Given the description of an element on the screen output the (x, y) to click on. 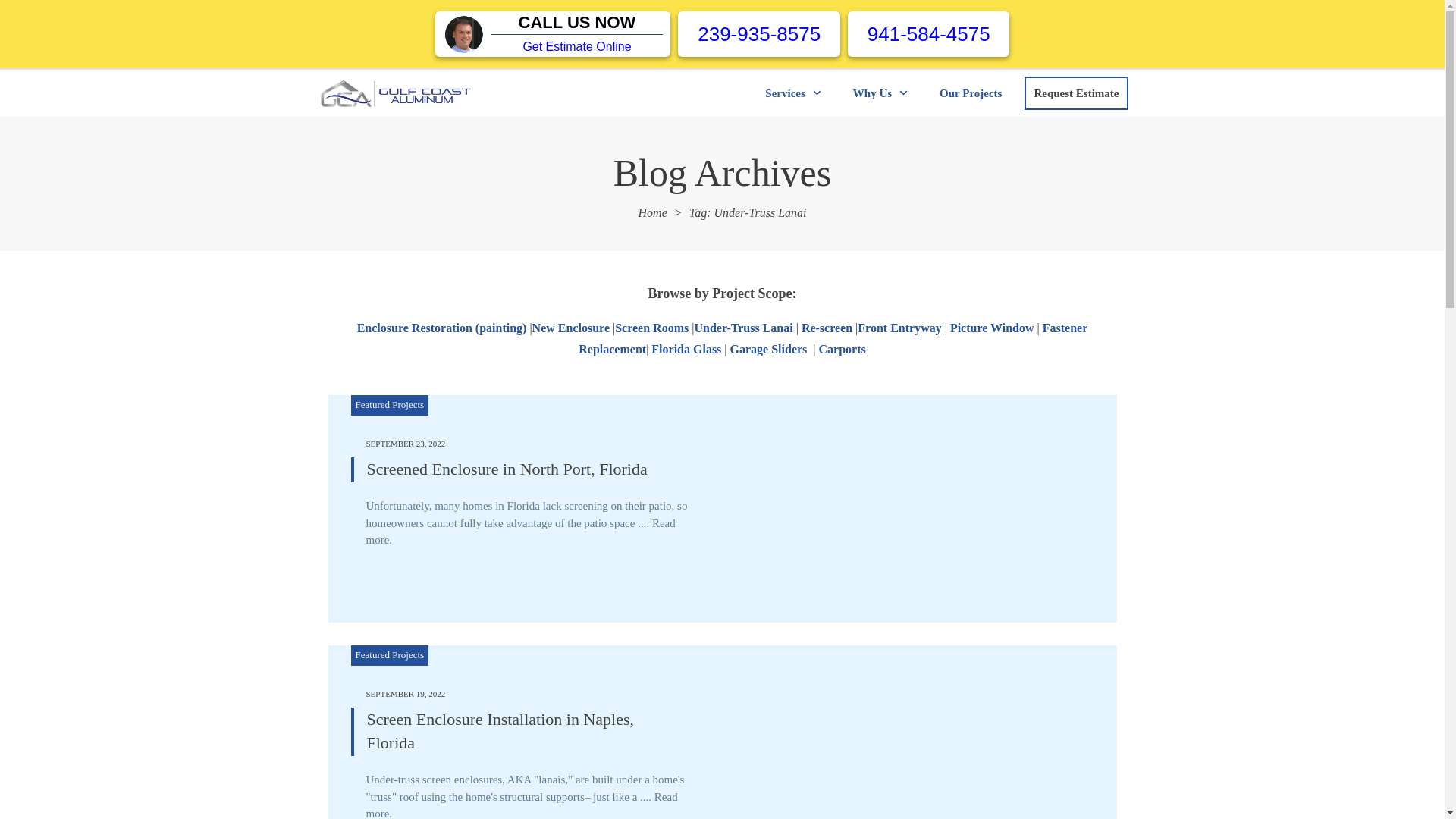
Screen Rooms (651, 327)
September 19, 2022  (405, 693)
Fastener Replacement (832, 338)
Screened Enclosure in North Port, Florida (506, 468)
Featured Projects (389, 404)
Home (652, 212)
Featured Projects (389, 654)
New Enclosure (571, 327)
Picture Window (991, 327)
Screen Enclosure Installation in Naples, Florida (500, 731)
Front Entryway (898, 327)
Carports (842, 349)
239-935-8575 (759, 33)
Request Estimate (1075, 92)
Our Projects (970, 92)
